Given the description of an element on the screen output the (x, y) to click on. 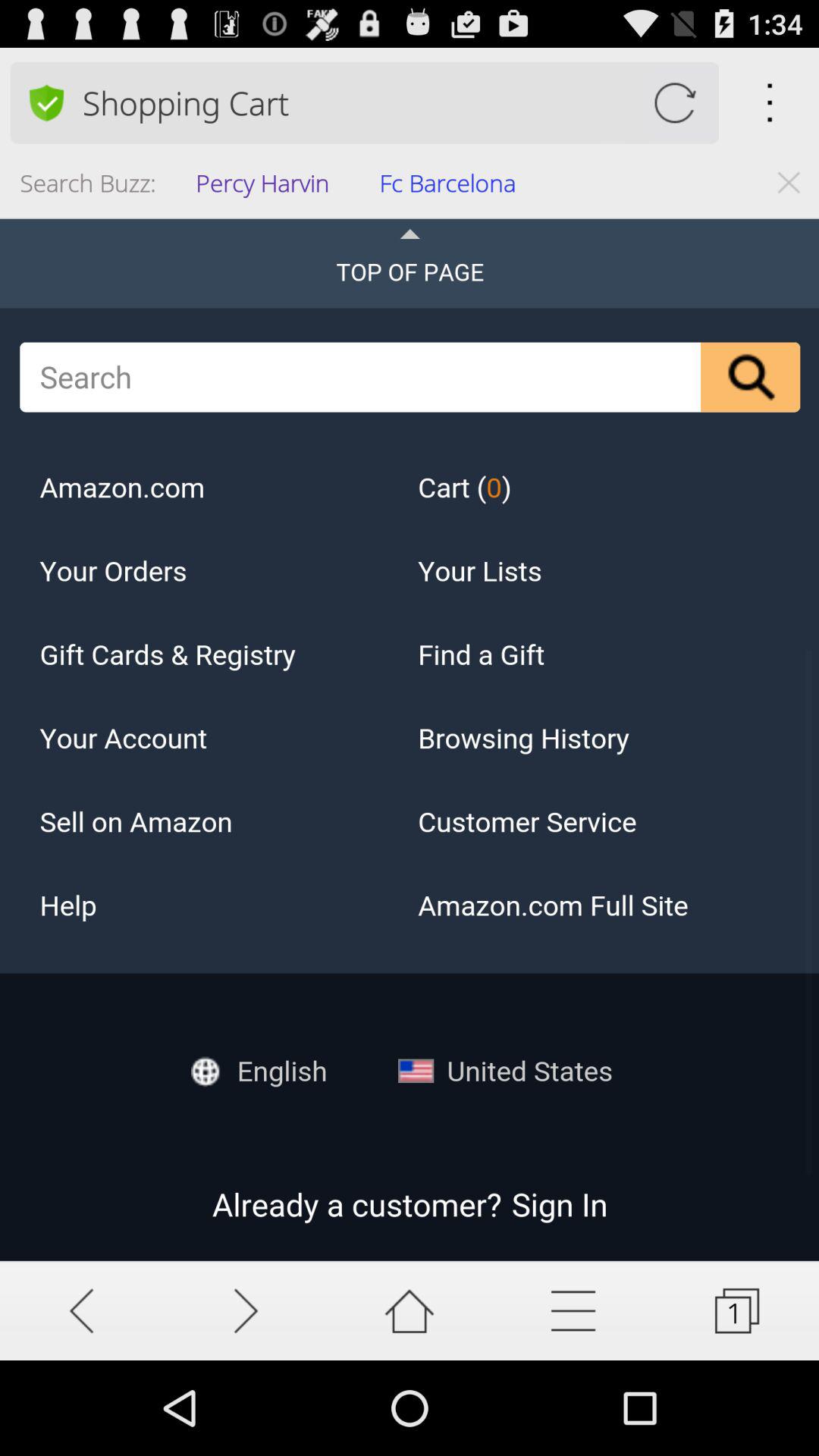
go back (81, 1310)
